Given the description of an element on the screen output the (x, y) to click on. 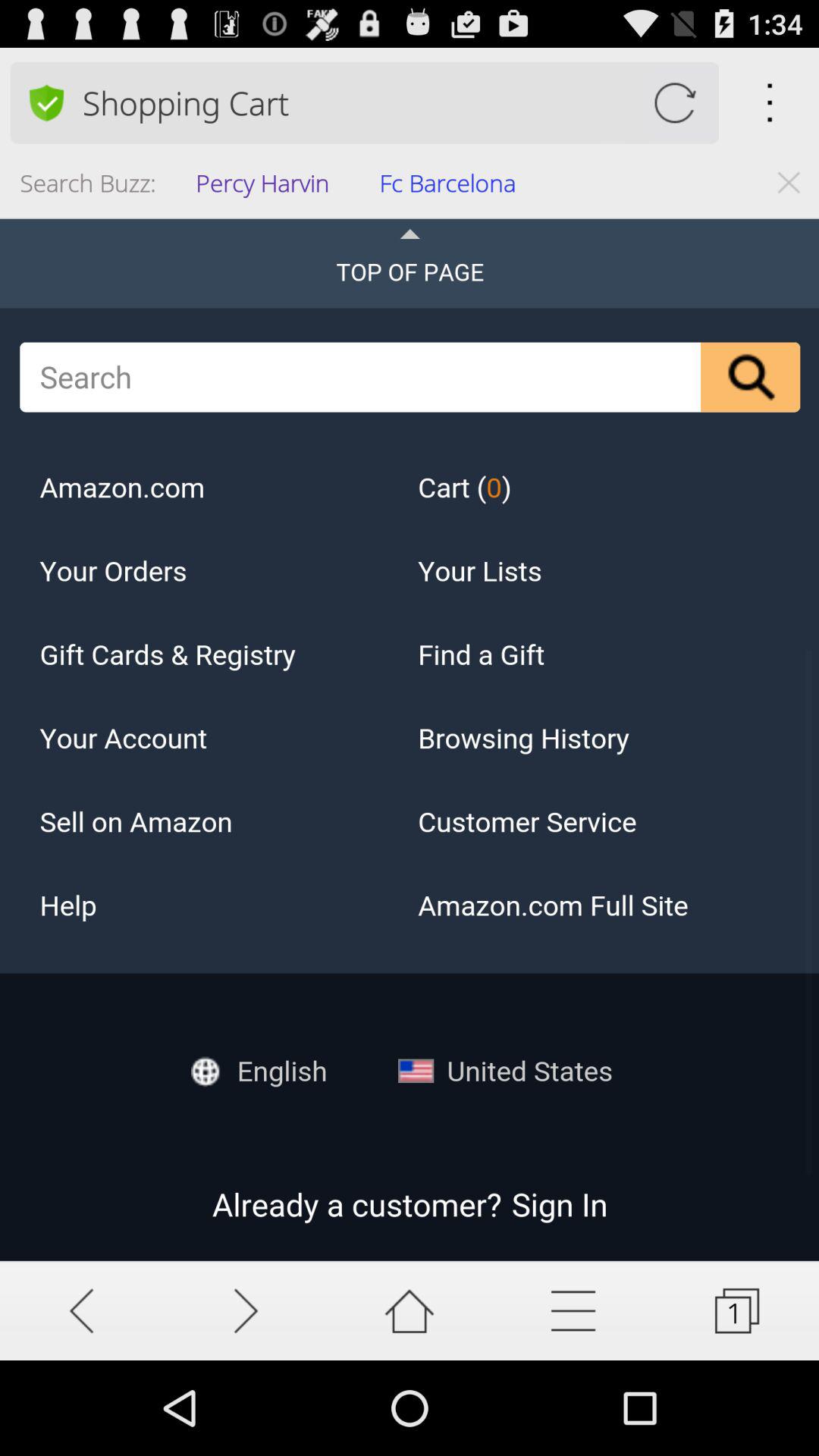
go back (81, 1310)
